Given the description of an element on the screen output the (x, y) to click on. 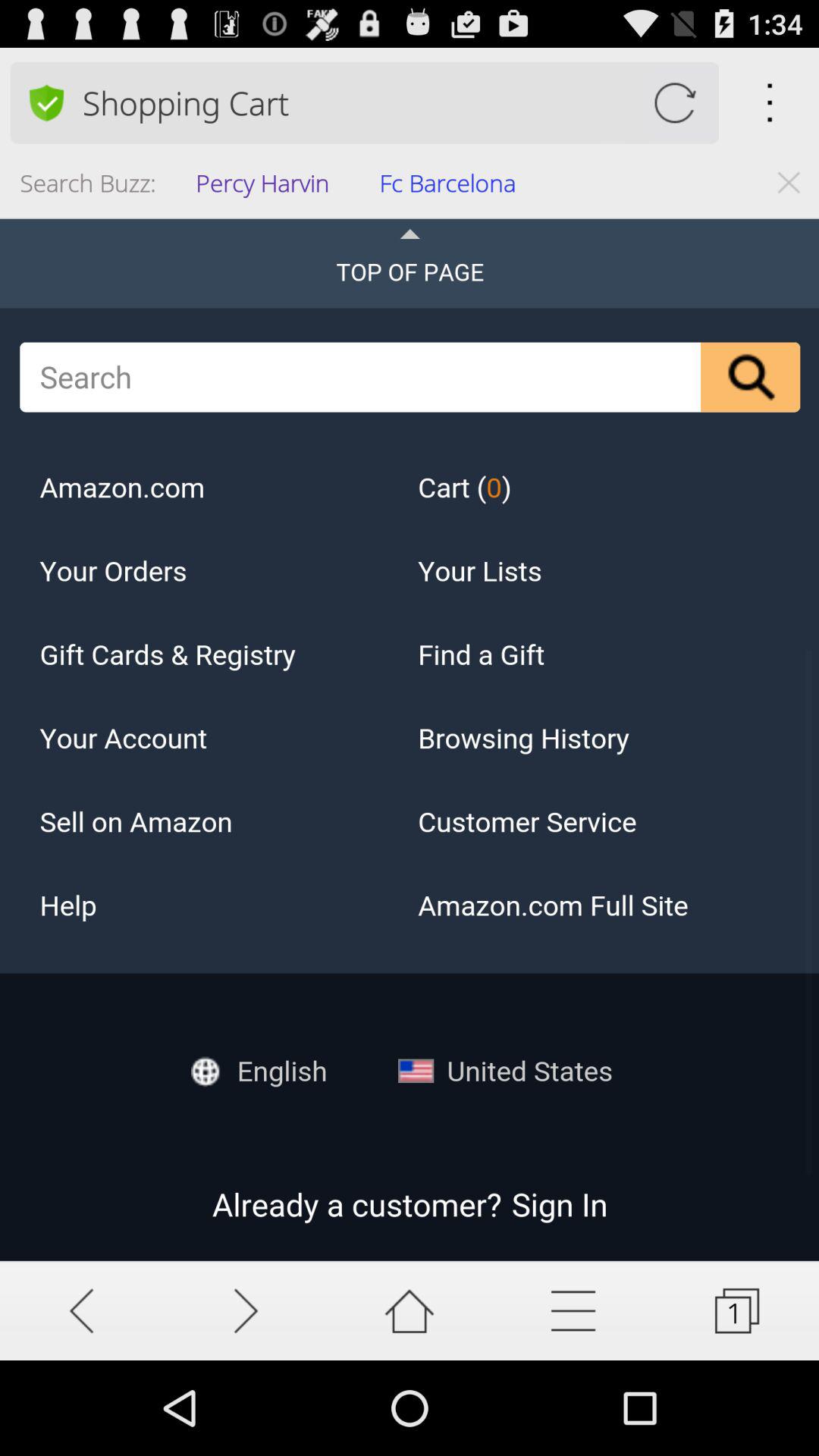
go back (81, 1310)
